Given the description of an element on the screen output the (x, y) to click on. 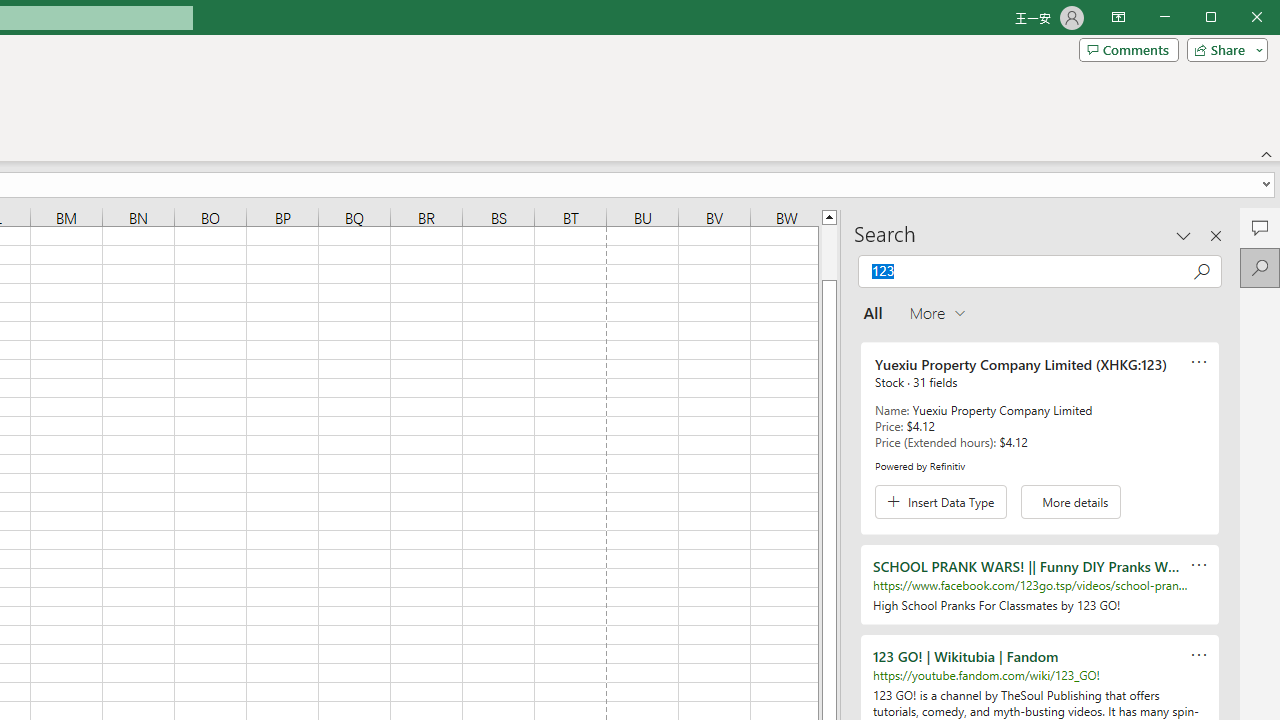
Page up (829, 252)
Maximize (1239, 18)
